Given the description of an element on the screen output the (x, y) to click on. 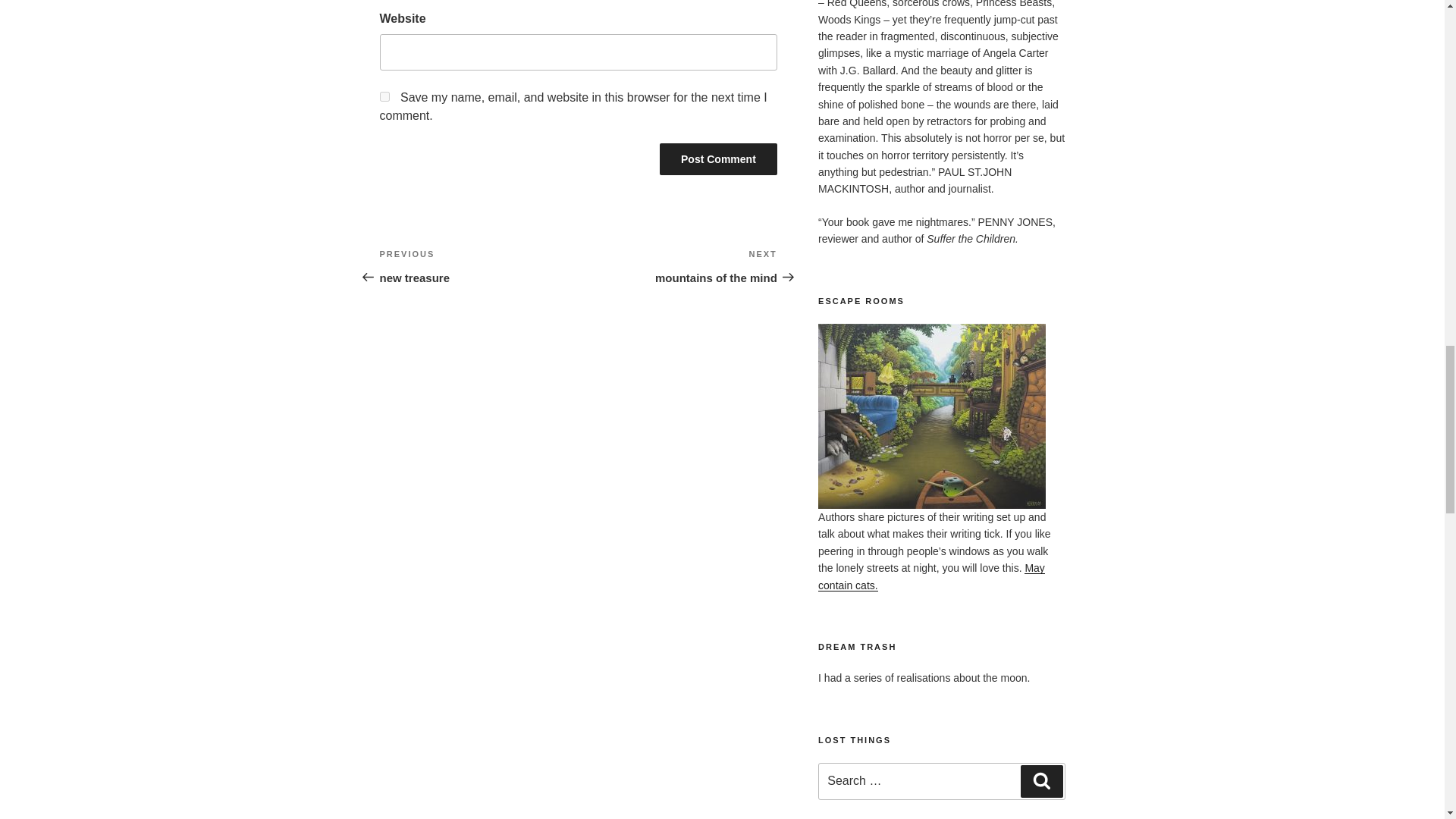
yes (383, 96)
May contain cats. (931, 575)
Search (1041, 780)
Post Comment (718, 159)
Post Comment (478, 266)
